Given the description of an element on the screen output the (x, y) to click on. 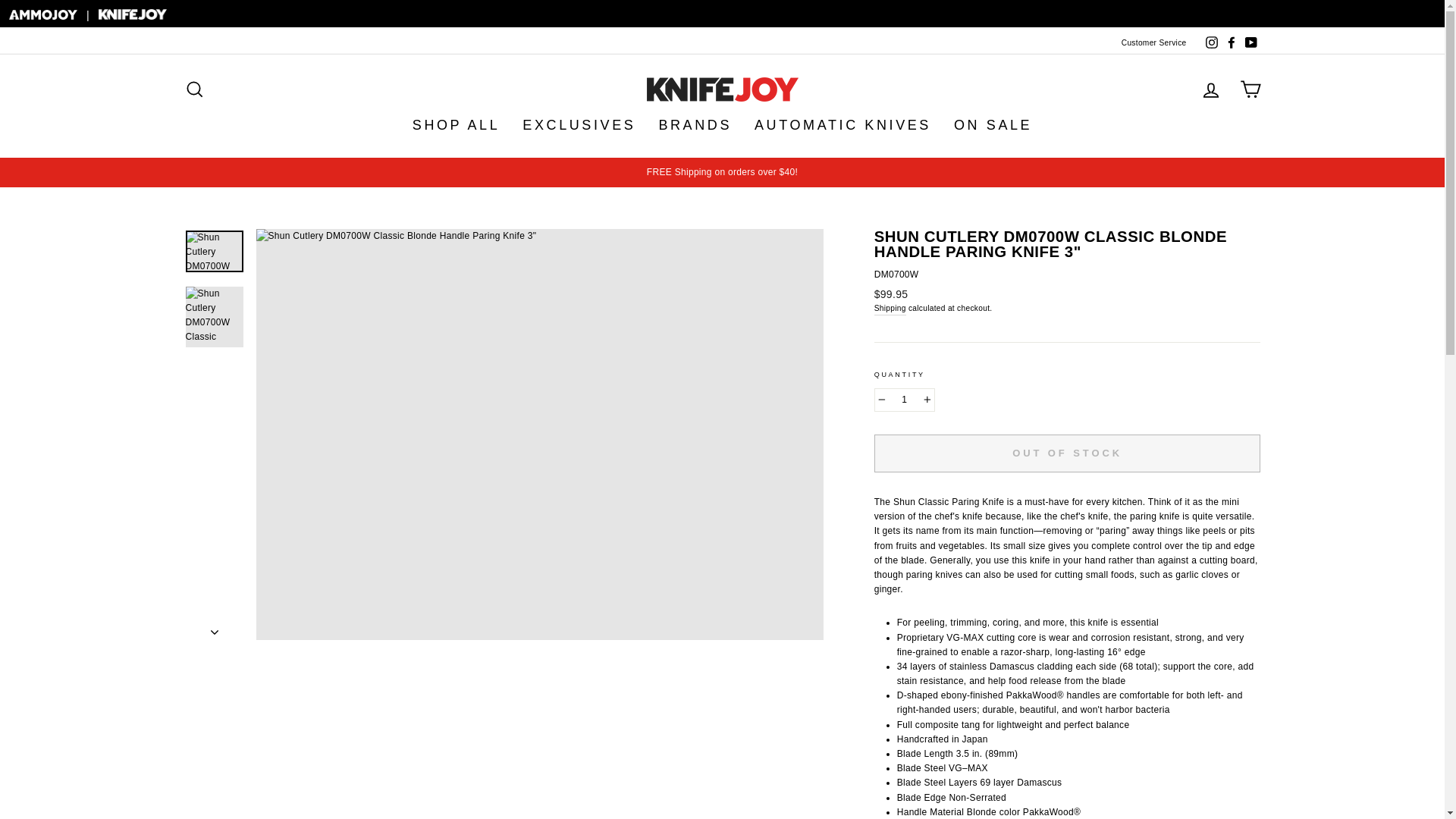
KnifeJoy on Facebook (1230, 43)
KnifeJoy on YouTube (1250, 43)
KnifeJoy on Instagram (1211, 43)
1 (904, 399)
